Given the description of an element on the screen output the (x, y) to click on. 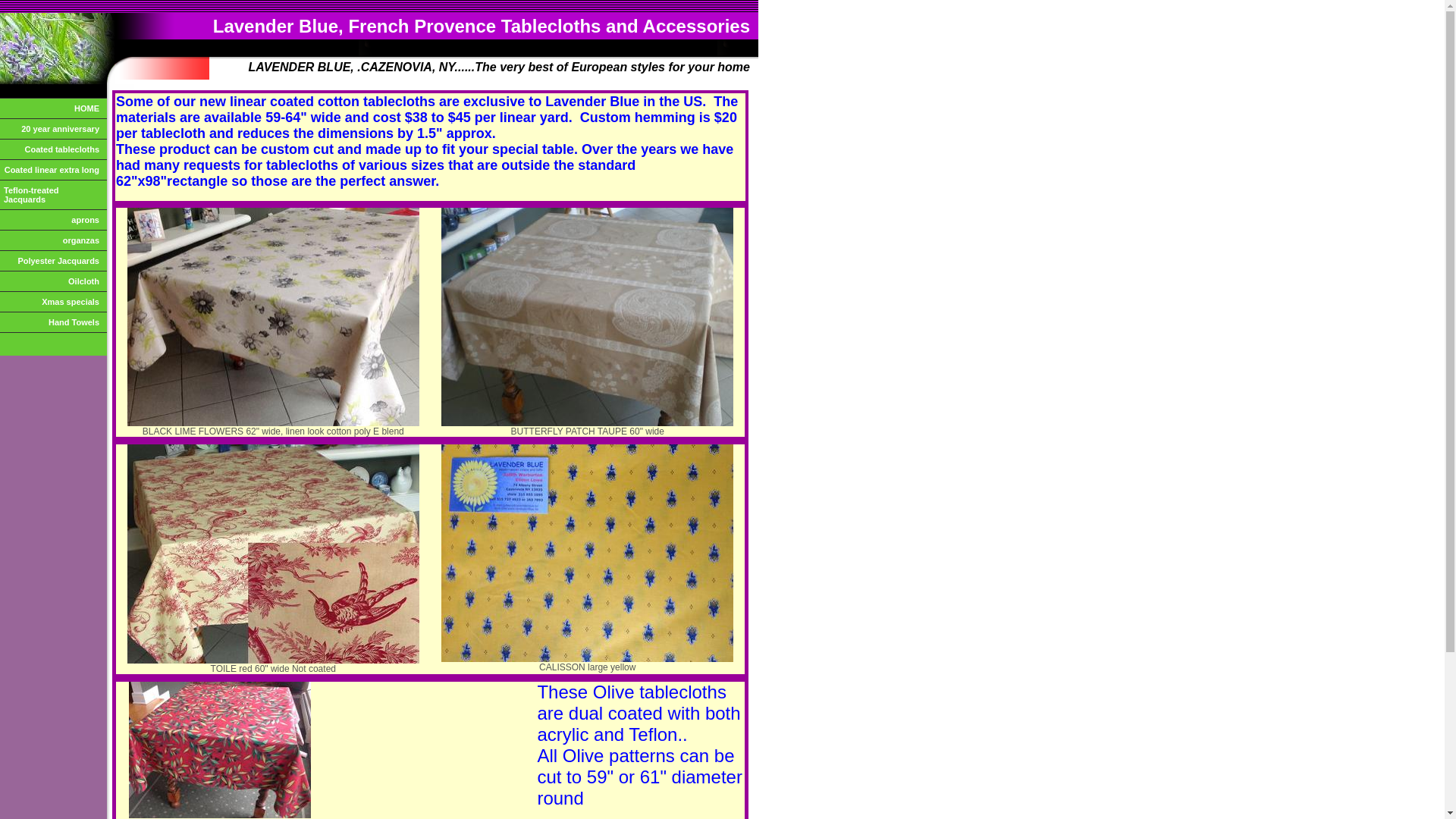
Teflon-treated Jacquards Element type: text (53, 195)
Xmas specials Element type: text (53, 301)
HOME Element type: text (53, 108)
Oilcloth Element type: text (53, 281)
aprons Element type: text (53, 220)
Hand Towels Element type: text (53, 322)
Polyester Jacquards Element type: text (53, 261)
Coated tablecloths Element type: text (53, 149)
20 year anniversary Element type: text (53, 129)
Coated linear extra long Element type: text (53, 170)
organzas Element type: text (53, 240)
